Given the description of an element on the screen output the (x, y) to click on. 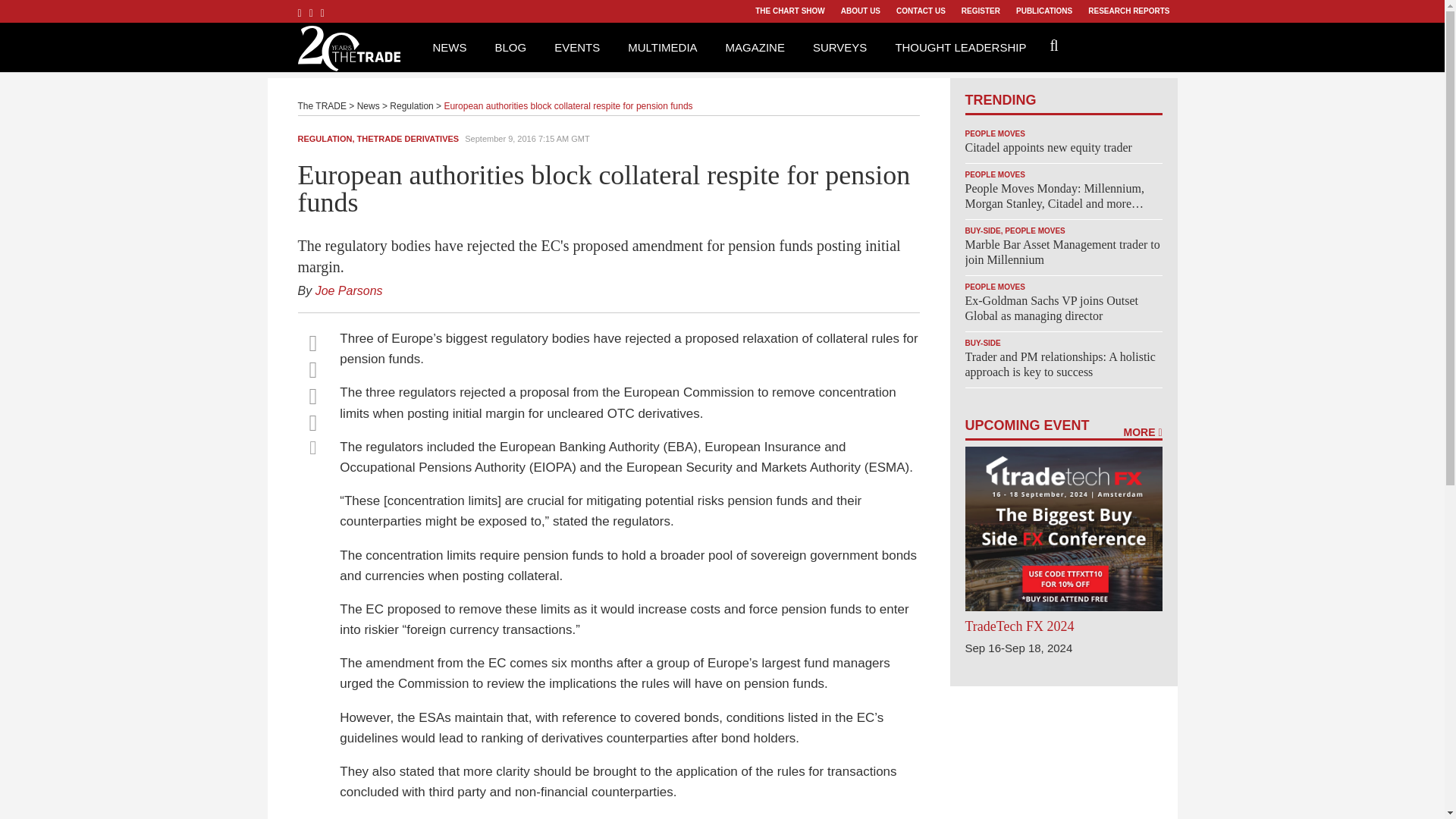
Go to The TRADE. (321, 105)
ABOUT US (860, 11)
REGISTER (980, 11)
THE CHART SHOW (789, 11)
Go to the News Category archives. (368, 105)
CONTACT US (920, 11)
PUBLICATIONS (1043, 11)
Go to the Regulation Category archives. (411, 105)
